Given the description of an element on the screen output the (x, y) to click on. 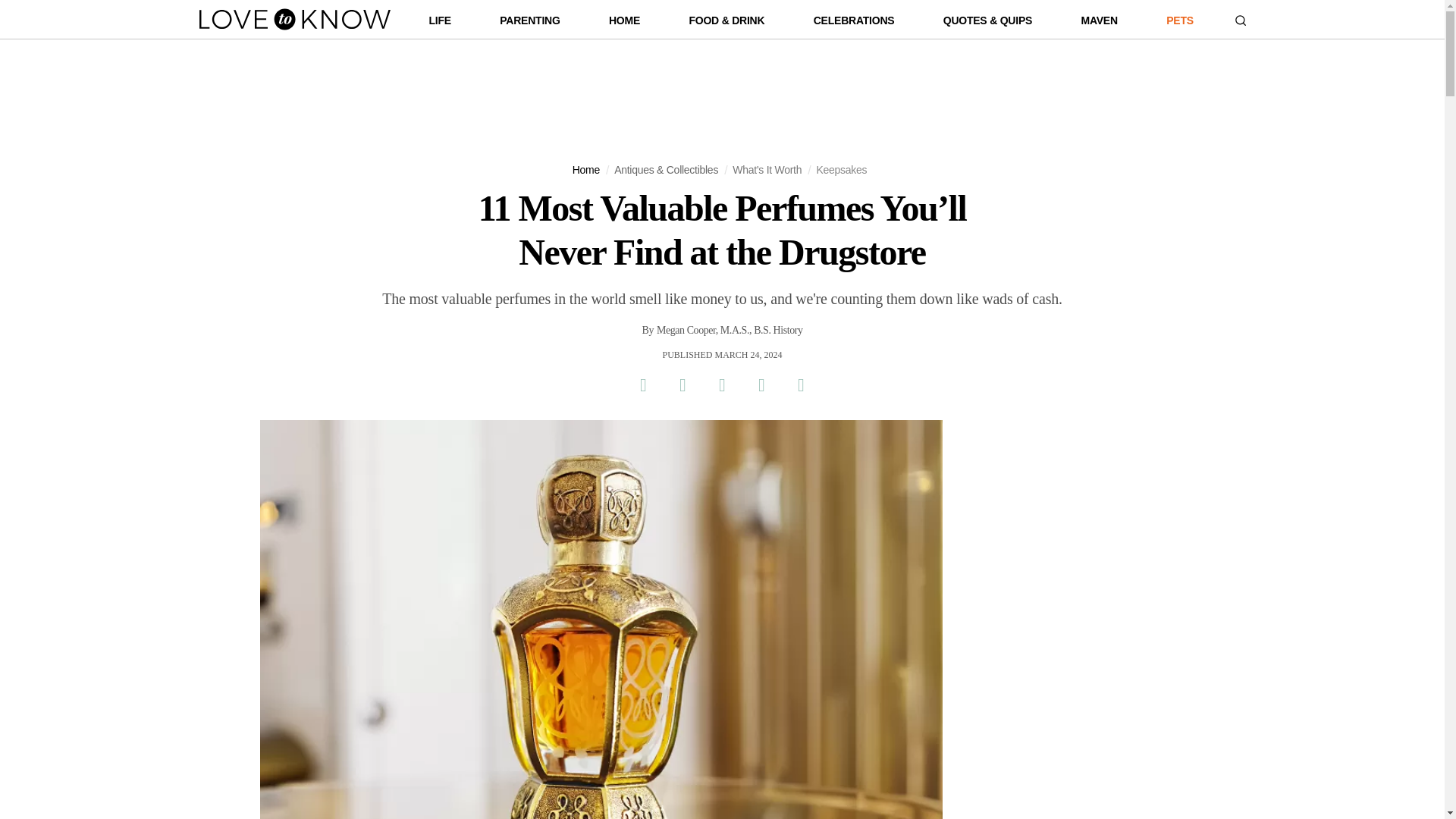
LIFE (439, 23)
Share on Facebook (642, 384)
PARENTING (529, 23)
Share on Twitter (681, 384)
Copy Link (800, 384)
HOME (624, 23)
Share via Email (760, 384)
Share on Pinterest (721, 384)
Megan Cooper, M.A.S., B.S. History (729, 330)
